Given the description of an element on the screen output the (x, y) to click on. 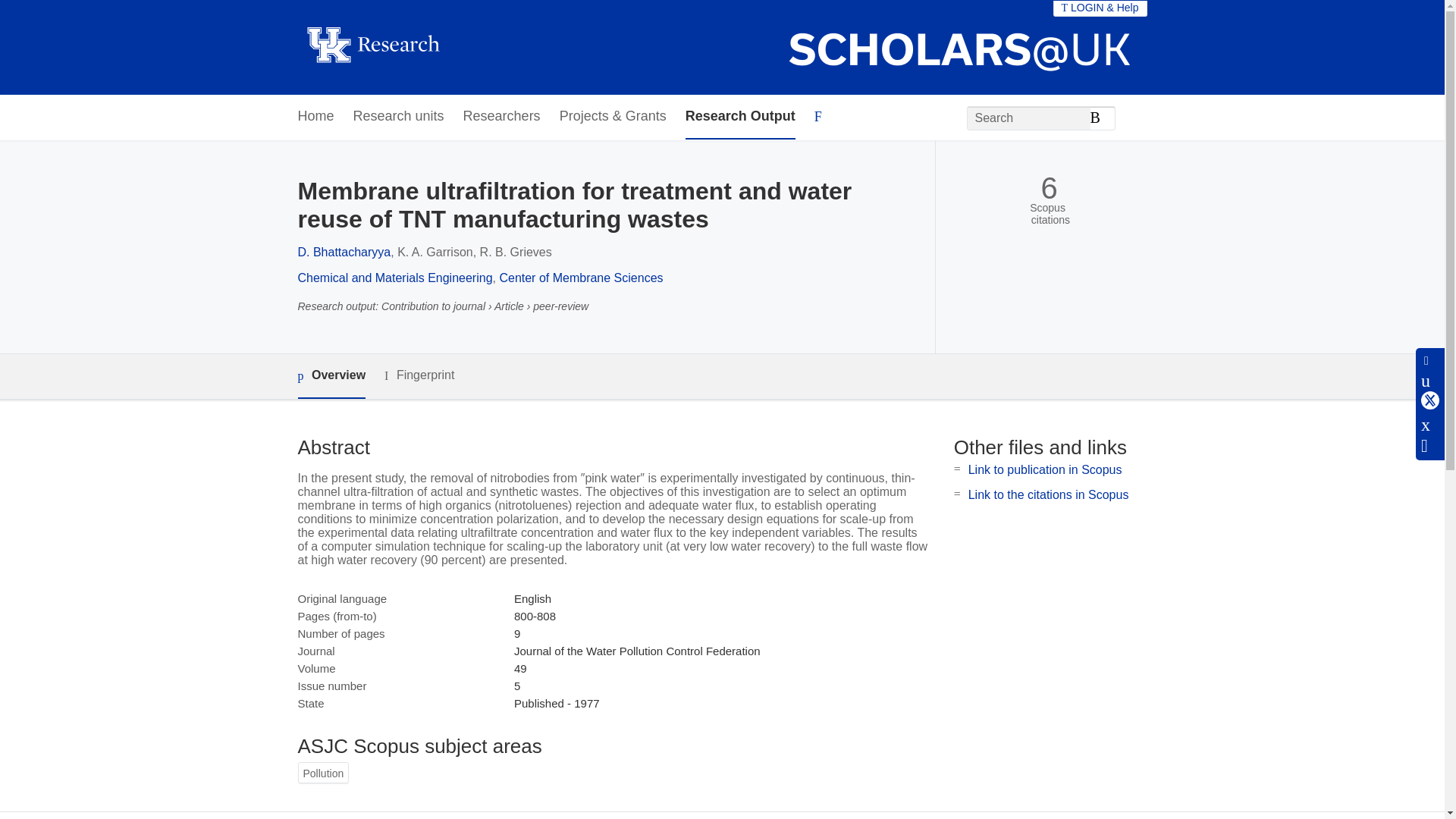
Research units (398, 117)
Link to publication in Scopus (1045, 469)
Researchers (501, 117)
Chemical and Materials Engineering (394, 277)
Fingerprint (419, 375)
Center of Membrane Sciences (580, 277)
Link to the citations in Scopus (1048, 494)
University of Kentucky Home (372, 47)
Overview (331, 375)
